Given the description of an element on the screen output the (x, y) to click on. 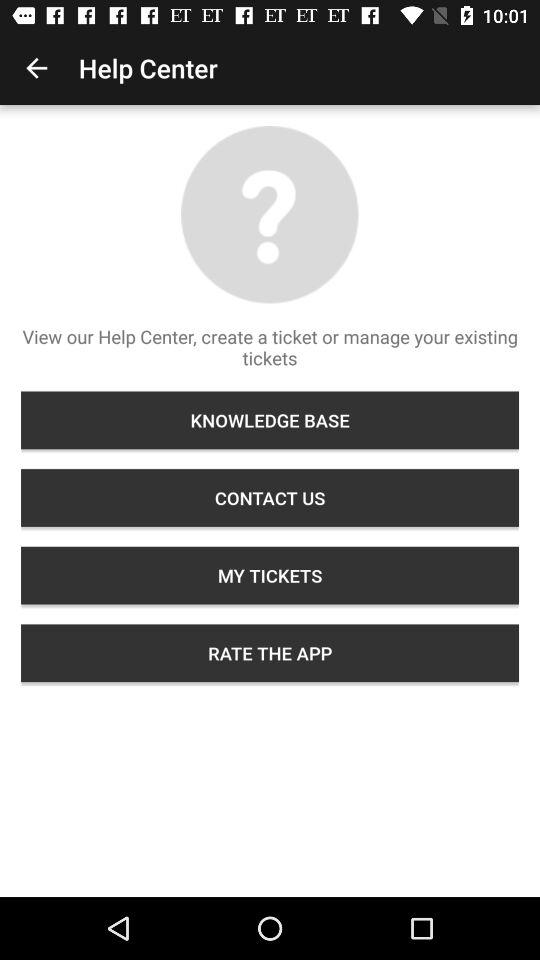
tap contact us (270, 497)
